Given the description of an element on the screen output the (x, y) to click on. 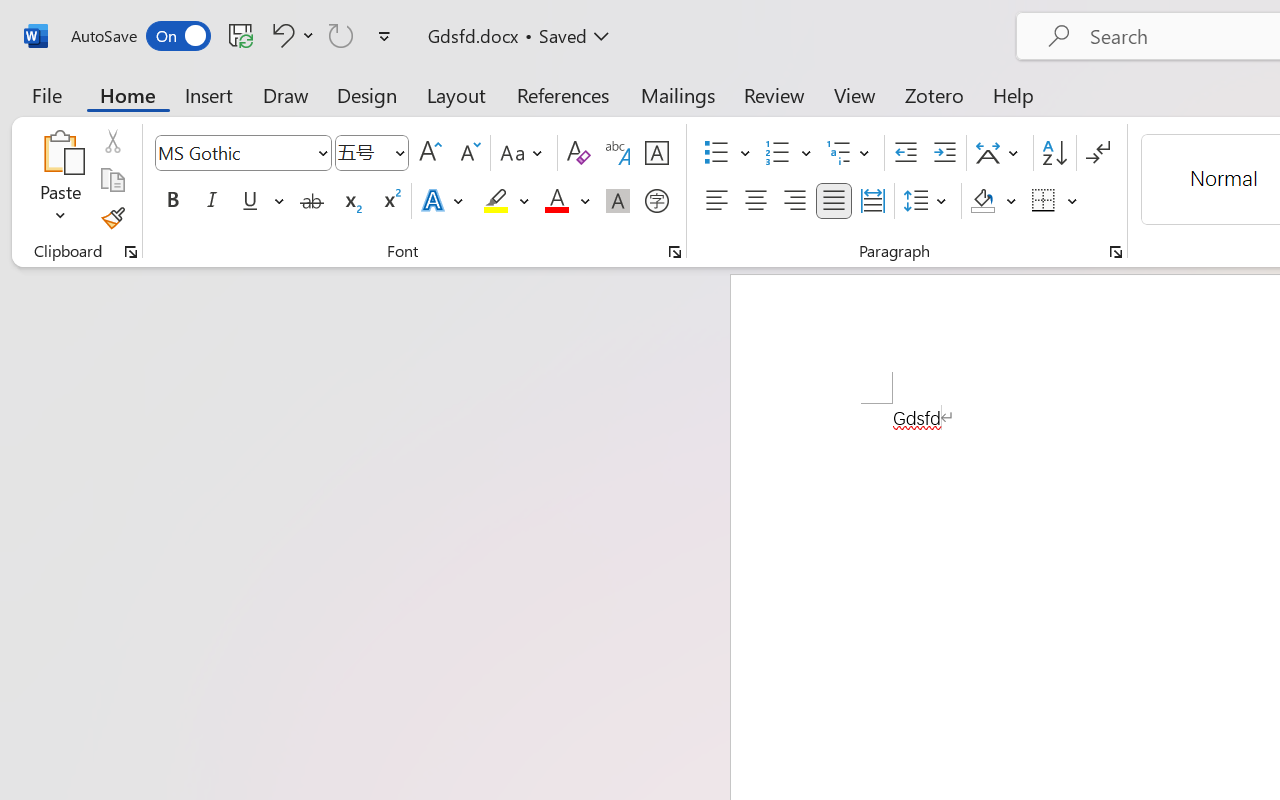
Asian Layout (1000, 153)
Can't Repeat (341, 35)
Shading (993, 201)
Show/Hide Editing Marks (1098, 153)
